Given the description of an element on the screen output the (x, y) to click on. 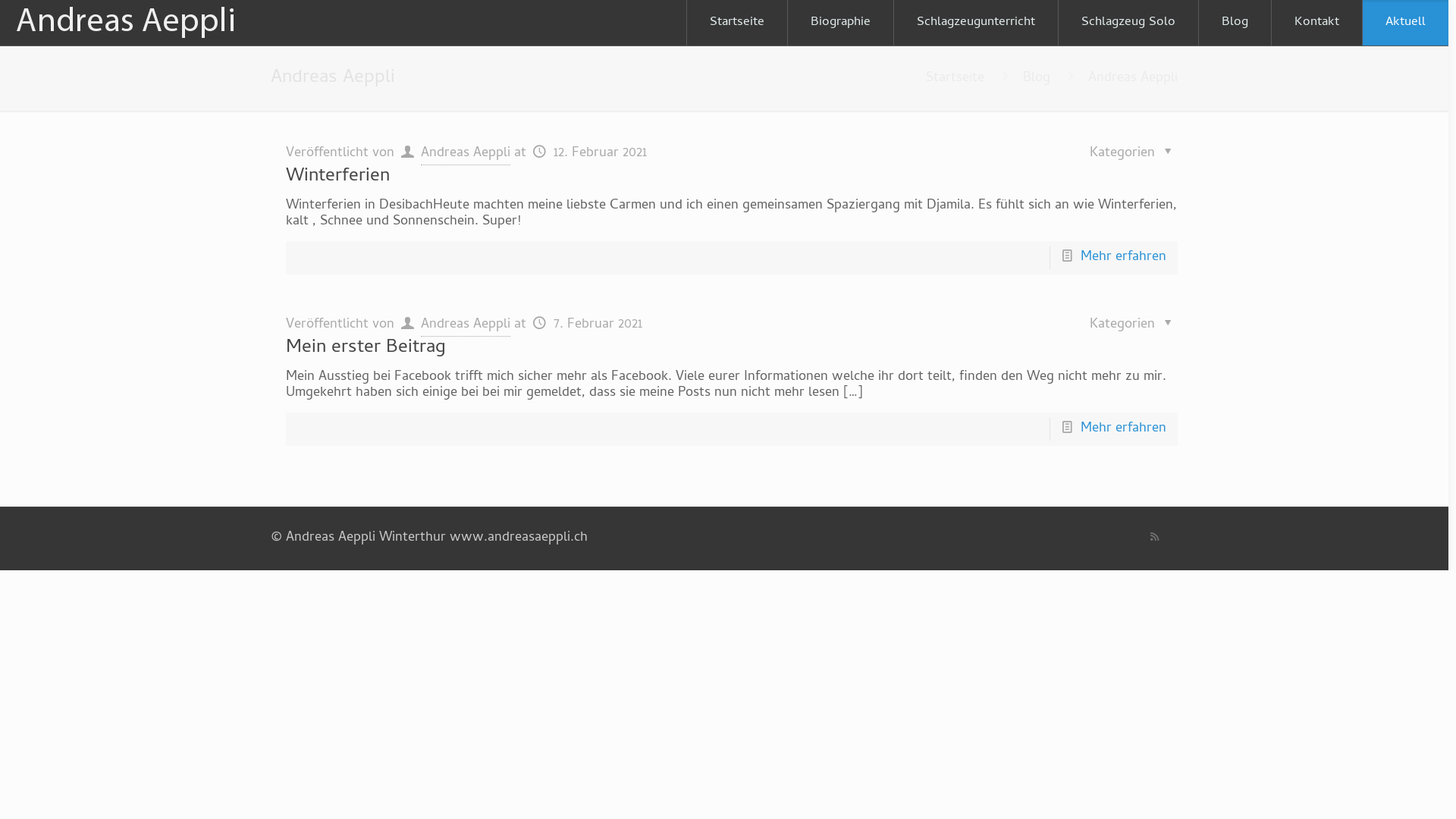
Andreas Aeppli Element type: text (465, 153)
Blog Element type: text (1234, 22)
Startseite Element type: text (736, 22)
Mein erster Beitrag Element type: text (365, 348)
Mehr erfahren Element type: text (1123, 428)
Startseite Element type: text (954, 78)
Winterferien Element type: text (337, 176)
Andreas Aeppli Element type: hover (127, 22)
Schlagzeug Solo Element type: text (1128, 22)
Mehr erfahren Element type: text (1123, 257)
Blog Element type: text (1036, 78)
Aktuell Element type: text (1404, 22)
RSS Element type: hover (1154, 538)
Biographie Element type: text (840, 22)
Schlagzeugunterricht Element type: text (976, 22)
Andreas Aeppli Element type: text (465, 324)
Kontakt Element type: text (1316, 22)
